Given the description of an element on the screen output the (x, y) to click on. 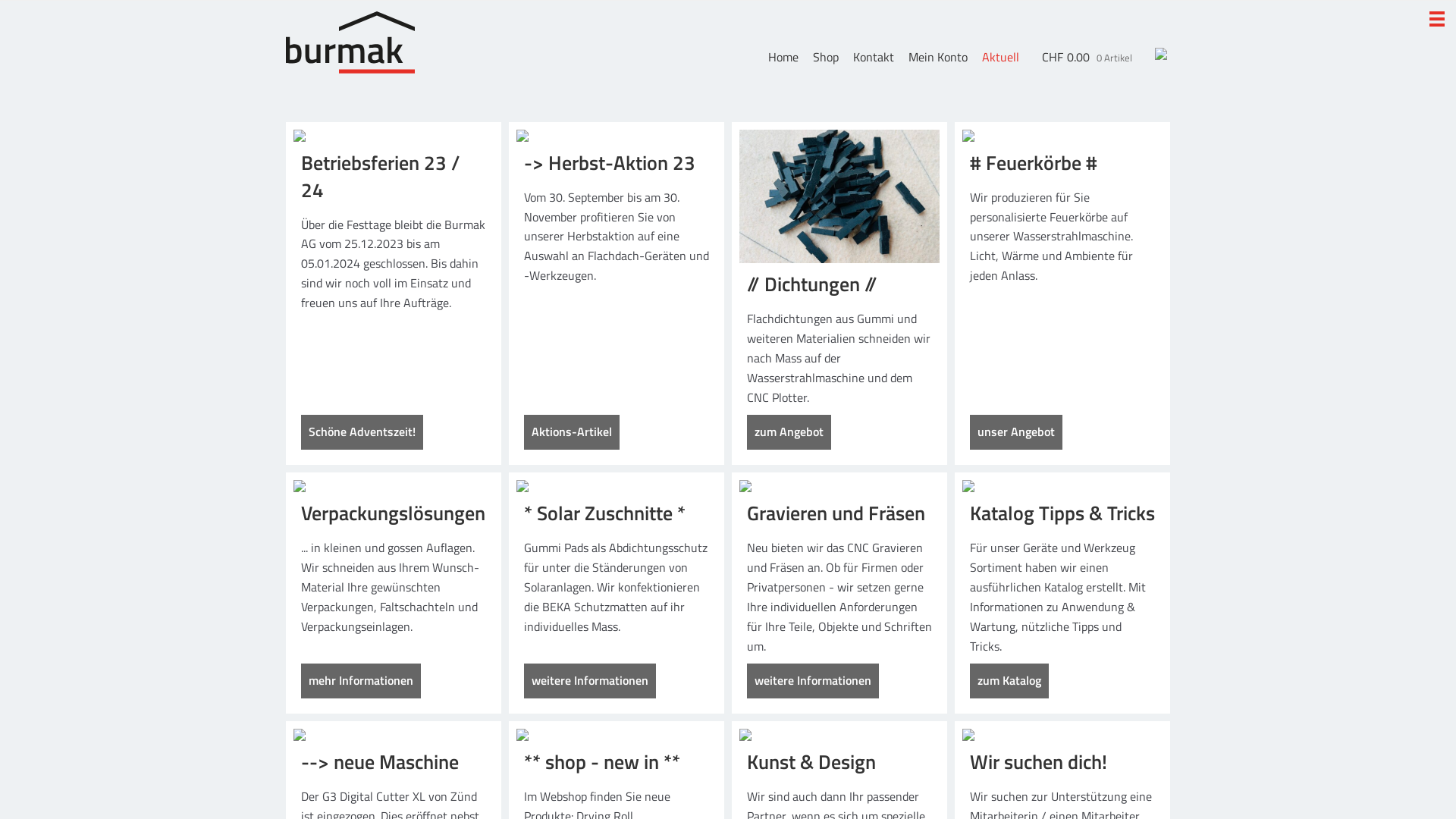
Shop Element type: text (825, 56)
weitere Informationen Element type: text (812, 680)
mehr Informationen Element type: text (360, 680)
Suche Element type: text (481, 493)
unser Angebot Element type: text (1015, 431)
zum Angebot Element type: text (788, 431)
Kontakt Element type: text (873, 56)
Aktions-Artikel Element type: text (571, 431)
Mein Konto Element type: text (937, 56)
Aktuell Element type: text (1000, 56)
weitere Informationen Element type: text (589, 680)
Home Element type: text (783, 56)
Suche Element type: text (1138, 85)
CHF0.00 0 Artikel Element type: text (1086, 57)
zum Katalog Element type: text (1008, 680)
